Given the description of an element on the screen output the (x, y) to click on. 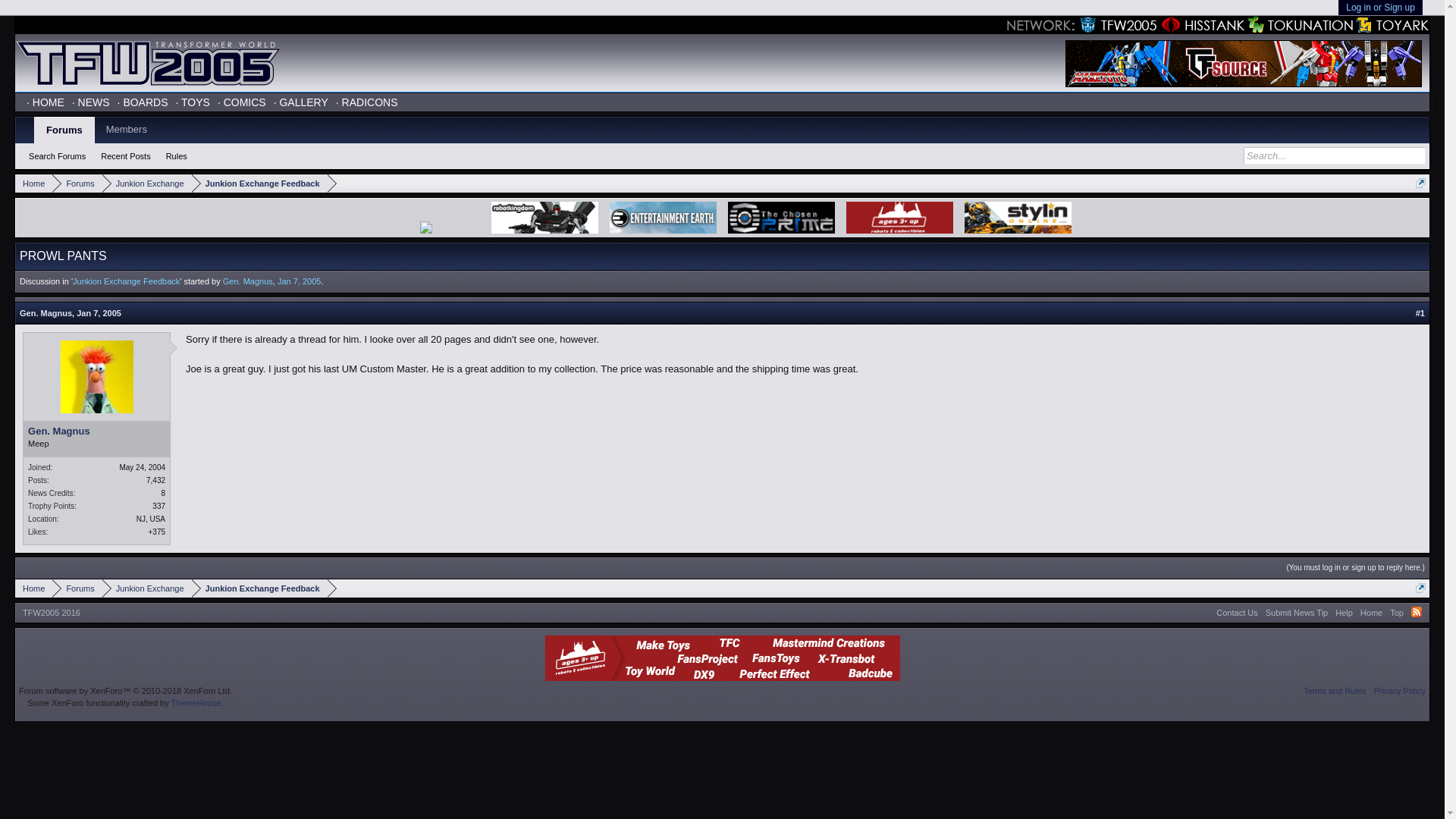
TFW2005.COM - Transformers Toy and Movie News and Discussion (147, 63)
Open quick navigation (1420, 587)
Home (33, 588)
Forums (76, 183)
Gen. Magnus (45, 312)
Jan 7, 2005 at 3:16 PM (299, 280)
Log in or Sign up (1380, 7)
Gen. Magnus (96, 431)
7,432 (156, 479)
Gen. Magnus (247, 280)
